Given the description of an element on the screen output the (x, y) to click on. 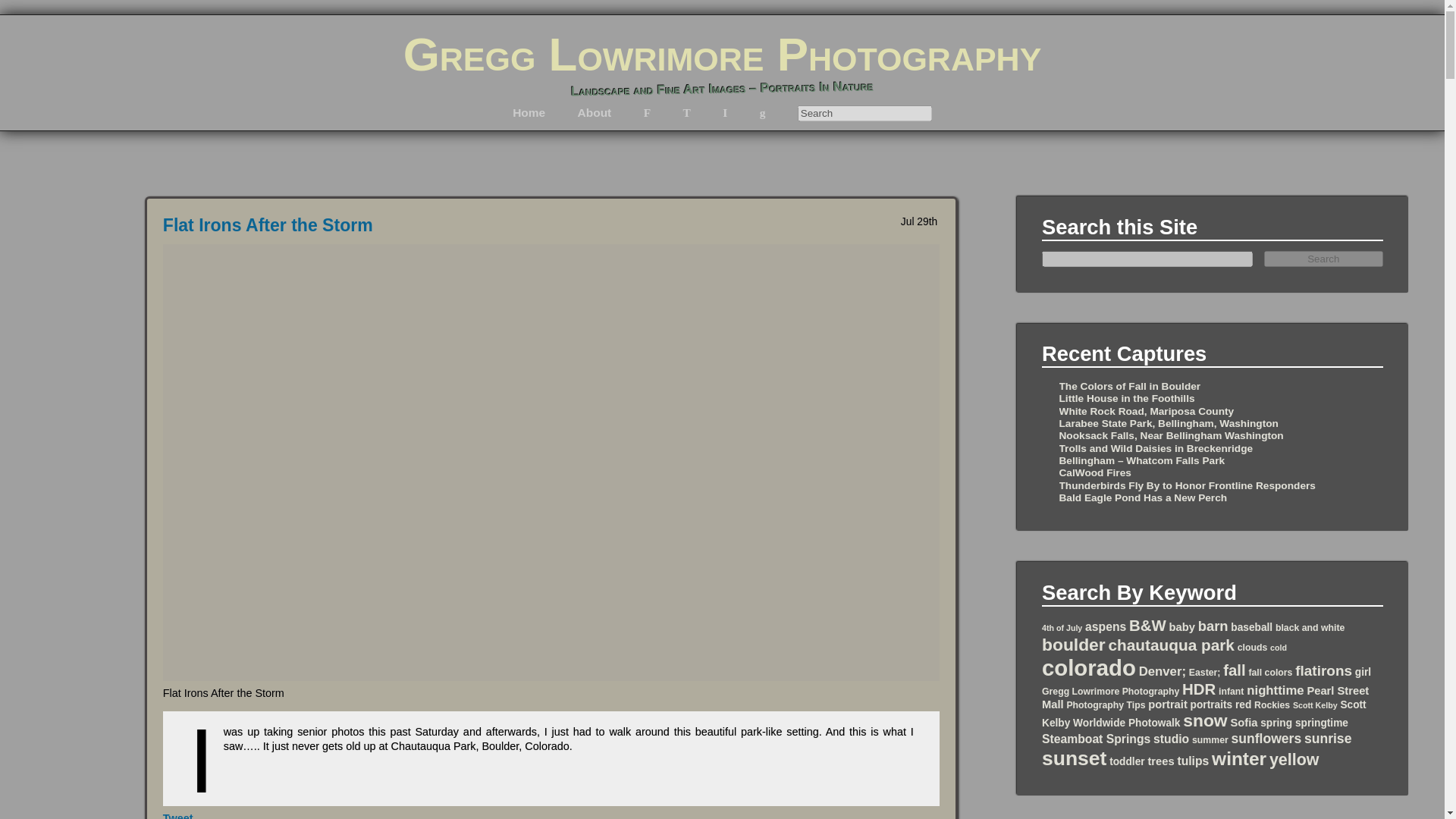
Flat Irons After the Storm (267, 225)
Flat Irons After the Storm (267, 225)
Gregg Lowrimore Photography (722, 53)
Tweet (178, 815)
About (594, 112)
Search (1323, 258)
Home (528, 112)
Search (864, 113)
